Given the description of an element on the screen output the (x, y) to click on. 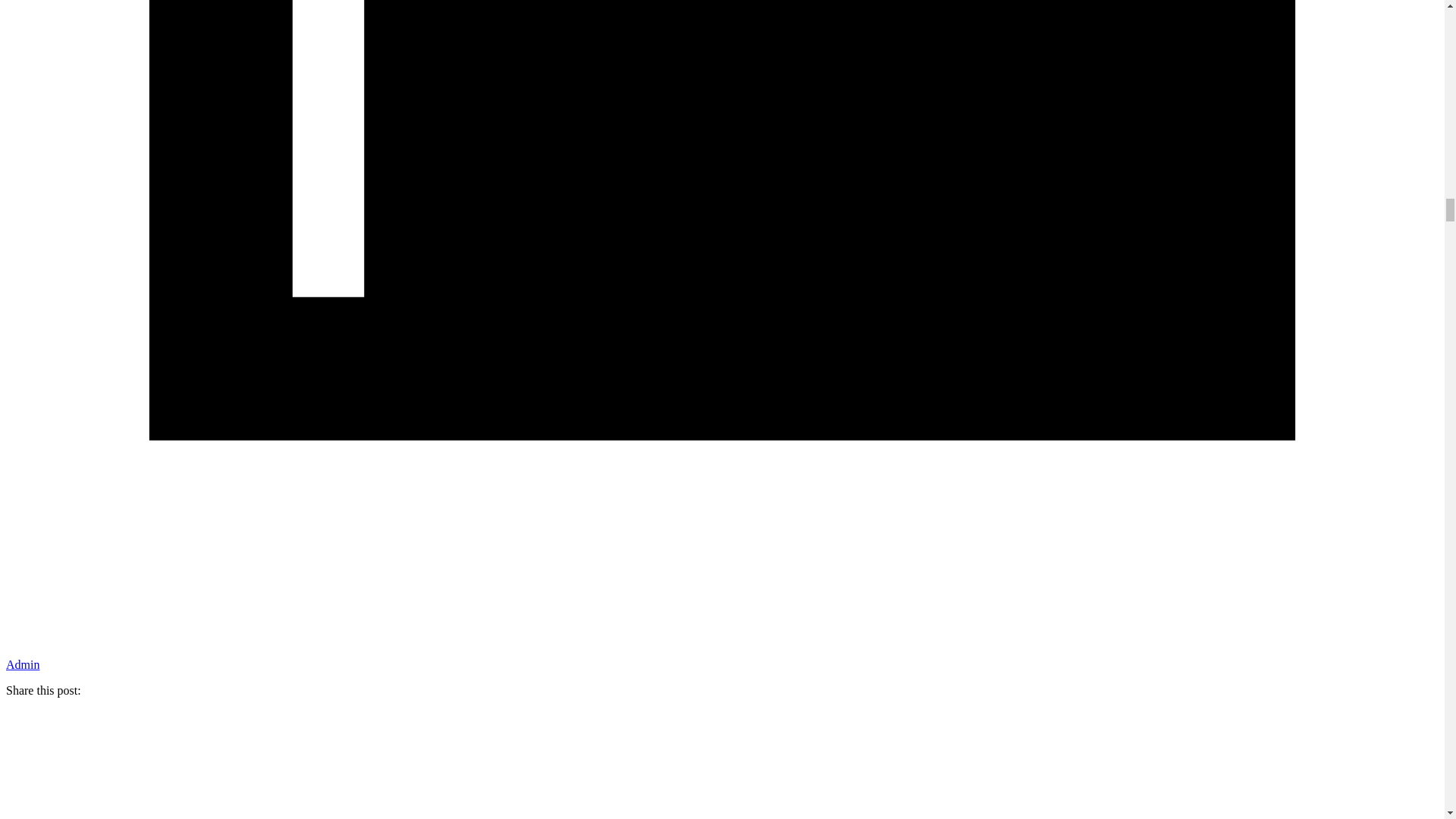
Admin (22, 664)
